Given the description of an element on the screen output the (x, y) to click on. 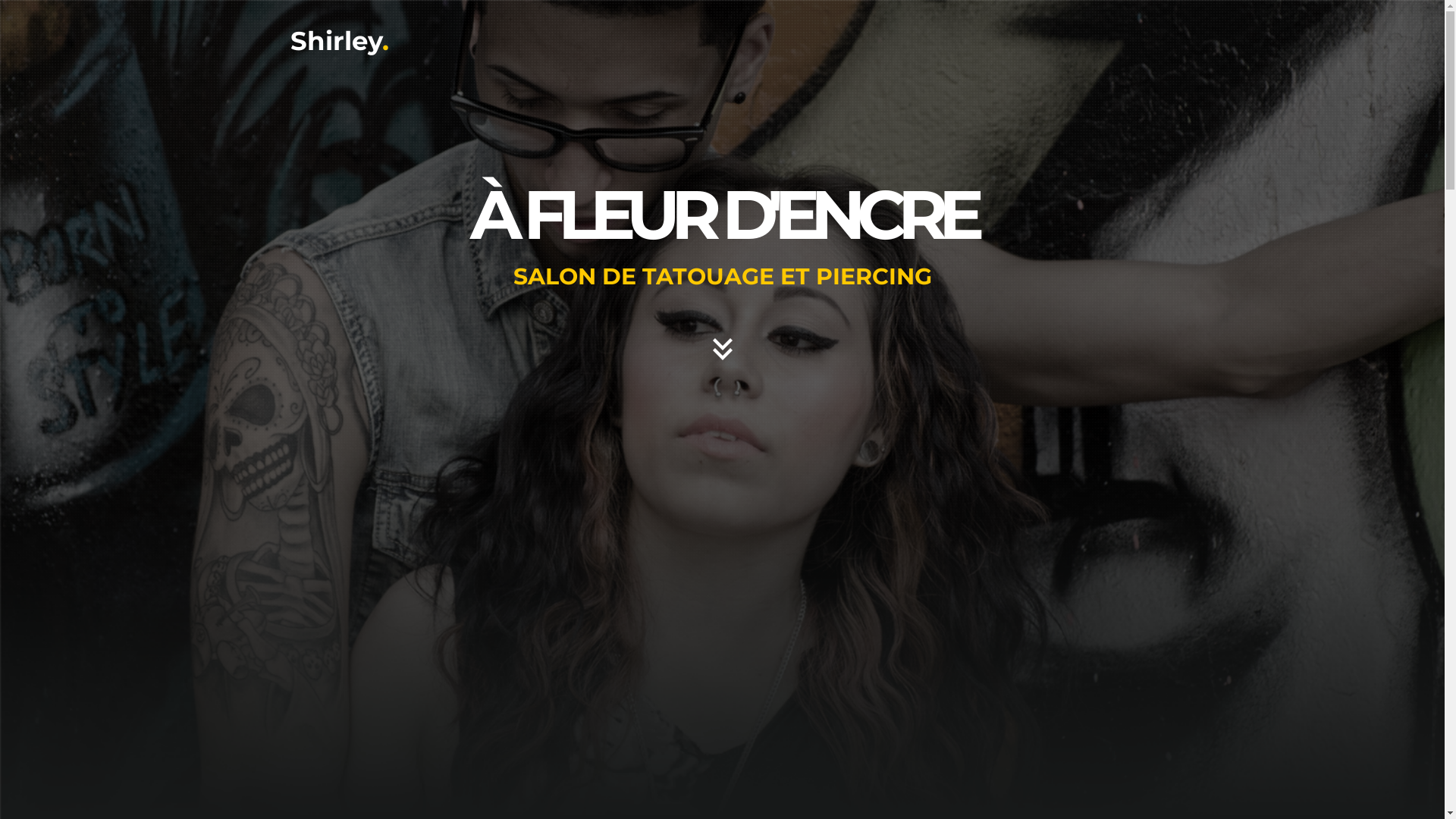
Scroll down Element type: hover (721, 178)
Shirley. Element type: text (338, 40)
